Given the description of an element on the screen output the (x, y) to click on. 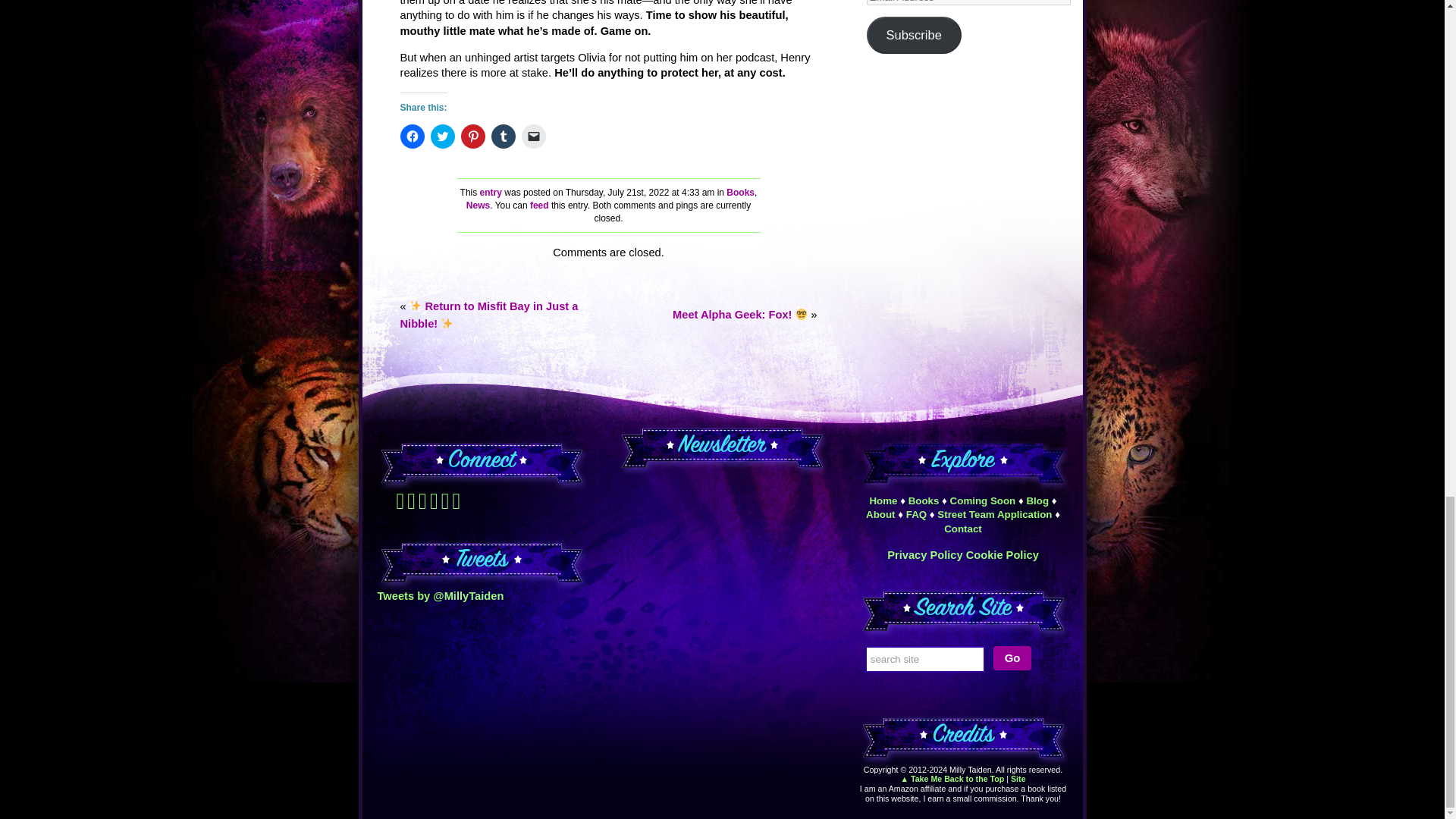
Books (740, 192)
feed (538, 204)
Go (1011, 658)
Return to Misfit Bay in Just a Nibble! (489, 315)
search site (924, 659)
News (477, 204)
search site (924, 659)
entry (491, 192)
